Given the description of an element on the screen output the (x, y) to click on. 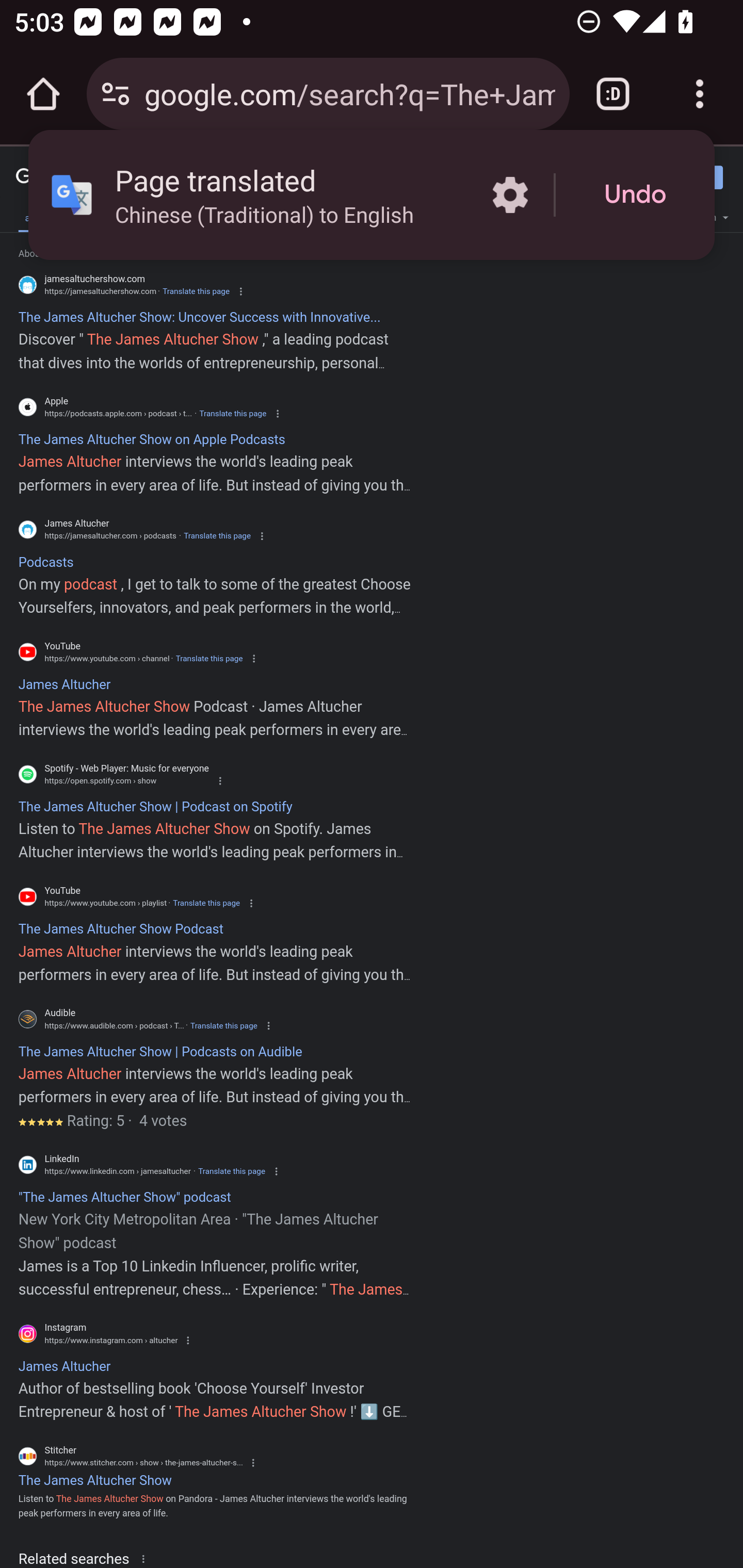
Open the home page (43, 93)
Connection is secure (115, 93)
Switch or close tabs (612, 93)
Customize and control Google Chrome (699, 93)
Undo (634, 195)
More options in the Page translated (509, 195)
Translate this page (195, 291)
Translate this page (232, 413)
Translate this page (217, 535)
Translate this page (208, 658)
Translate this page (206, 902)
Translate this page (223, 1025)
Translate this page (231, 1171)
About this result (146, 1557)
